Given the description of an element on the screen output the (x, y) to click on. 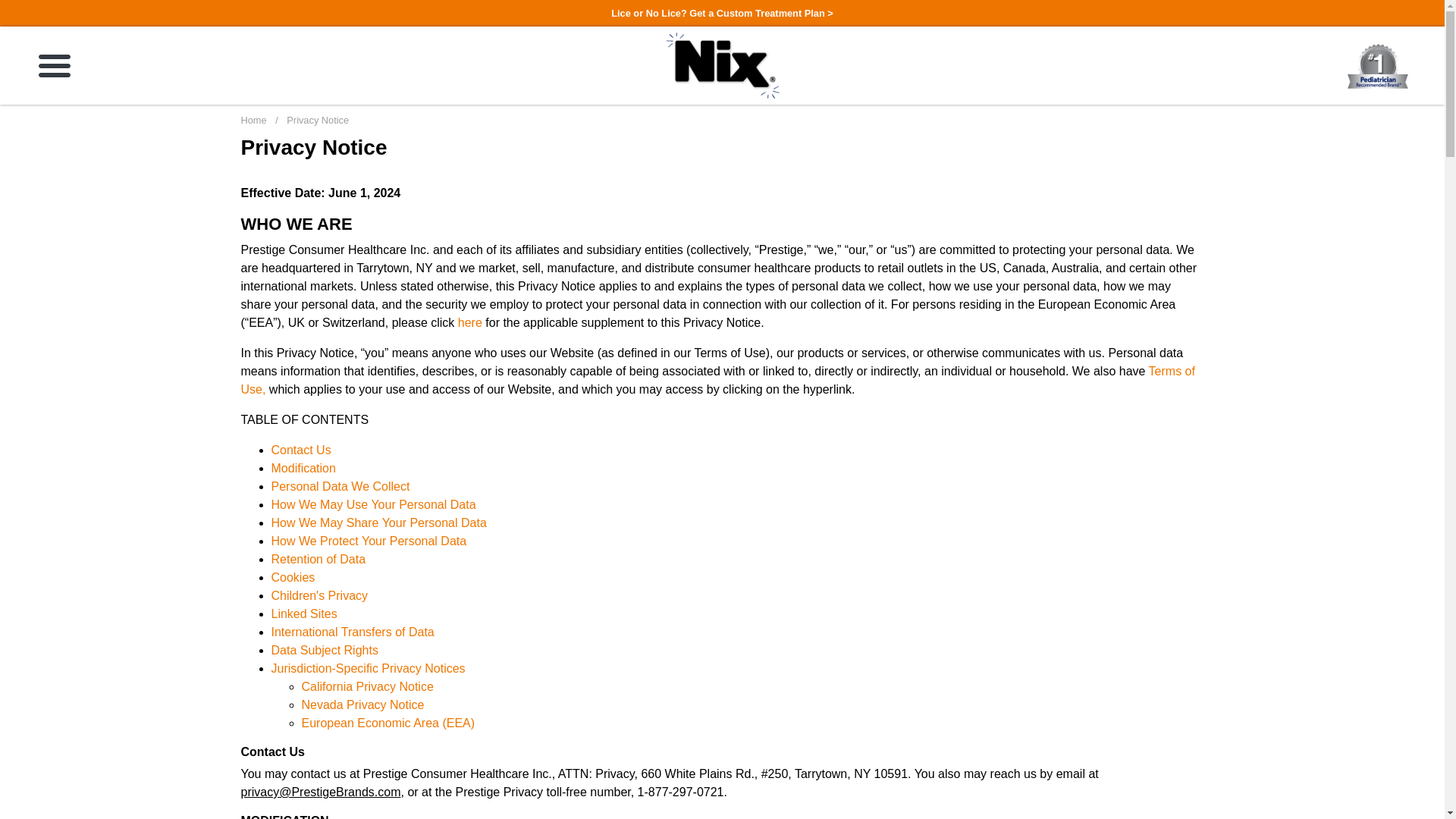
Modification (303, 468)
Nevada Privacy Notice (363, 704)
Cookies (292, 576)
Jurisdiction-Specific Privacy Notices (367, 667)
Data Subject Rights (324, 649)
Children's Privacy (319, 594)
How We May Share Your Personal Data (378, 522)
Contact Us (300, 449)
Home (255, 120)
How We May Use Your Personal Data (373, 504)
Linked Sites (303, 613)
California Privacy Notice (367, 686)
Retention of Data (318, 558)
Personal Data We Collect (340, 486)
